Given the description of an element on the screen output the (x, y) to click on. 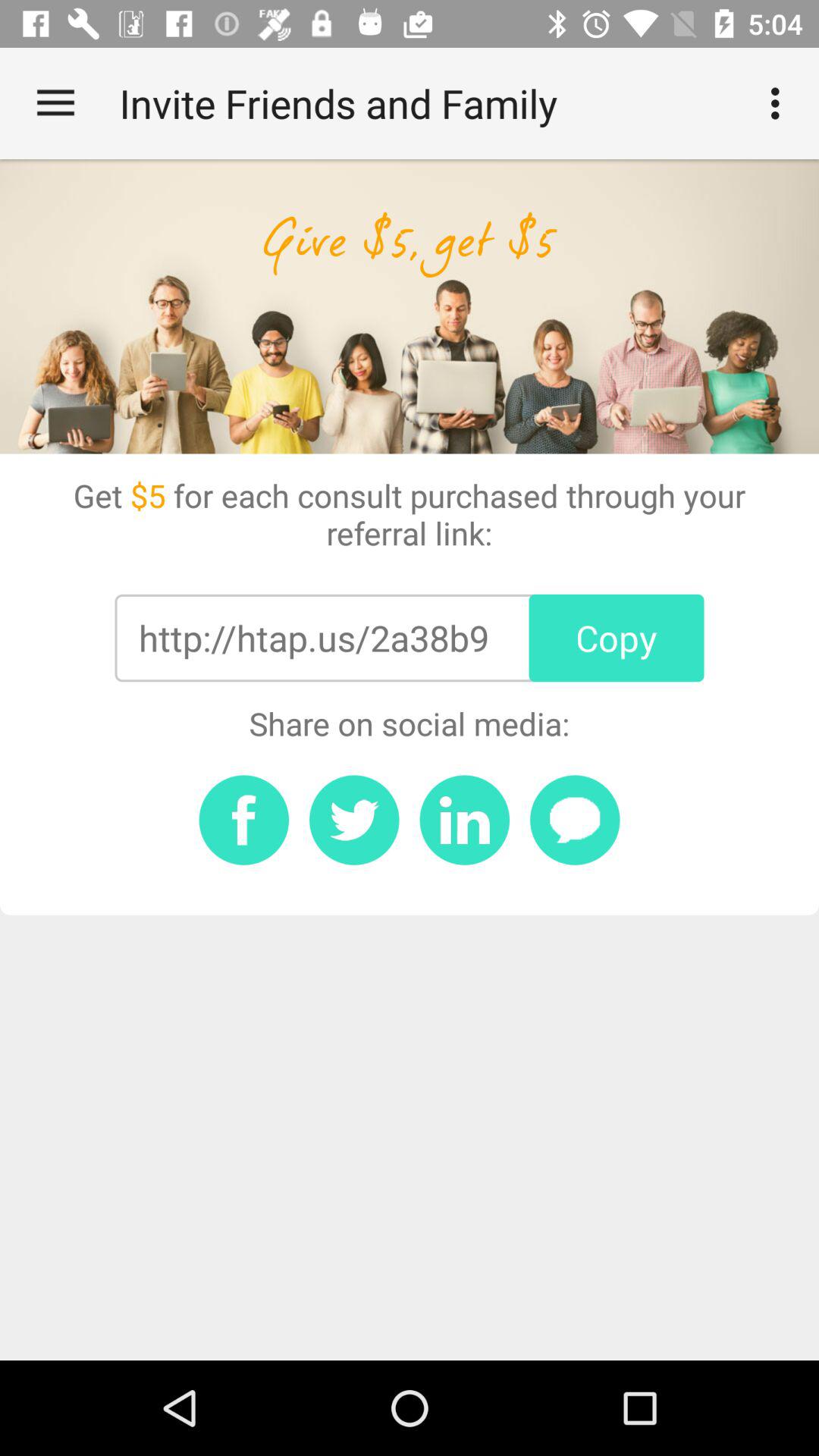
open the item to the right of the http htap us item (616, 637)
